Given the description of an element on the screen output the (x, y) to click on. 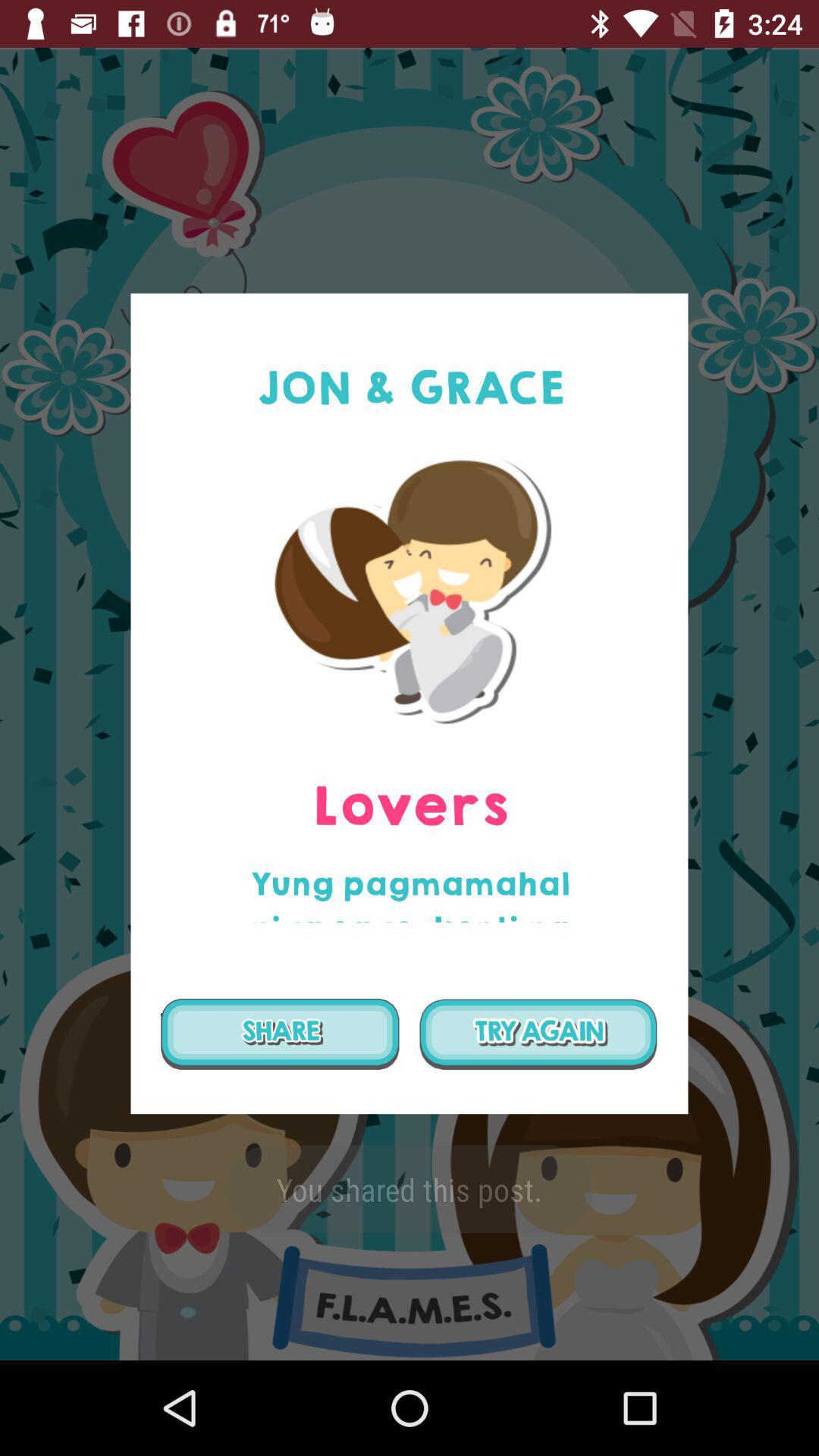
share option (279, 1034)
